Given the description of an element on the screen output the (x, y) to click on. 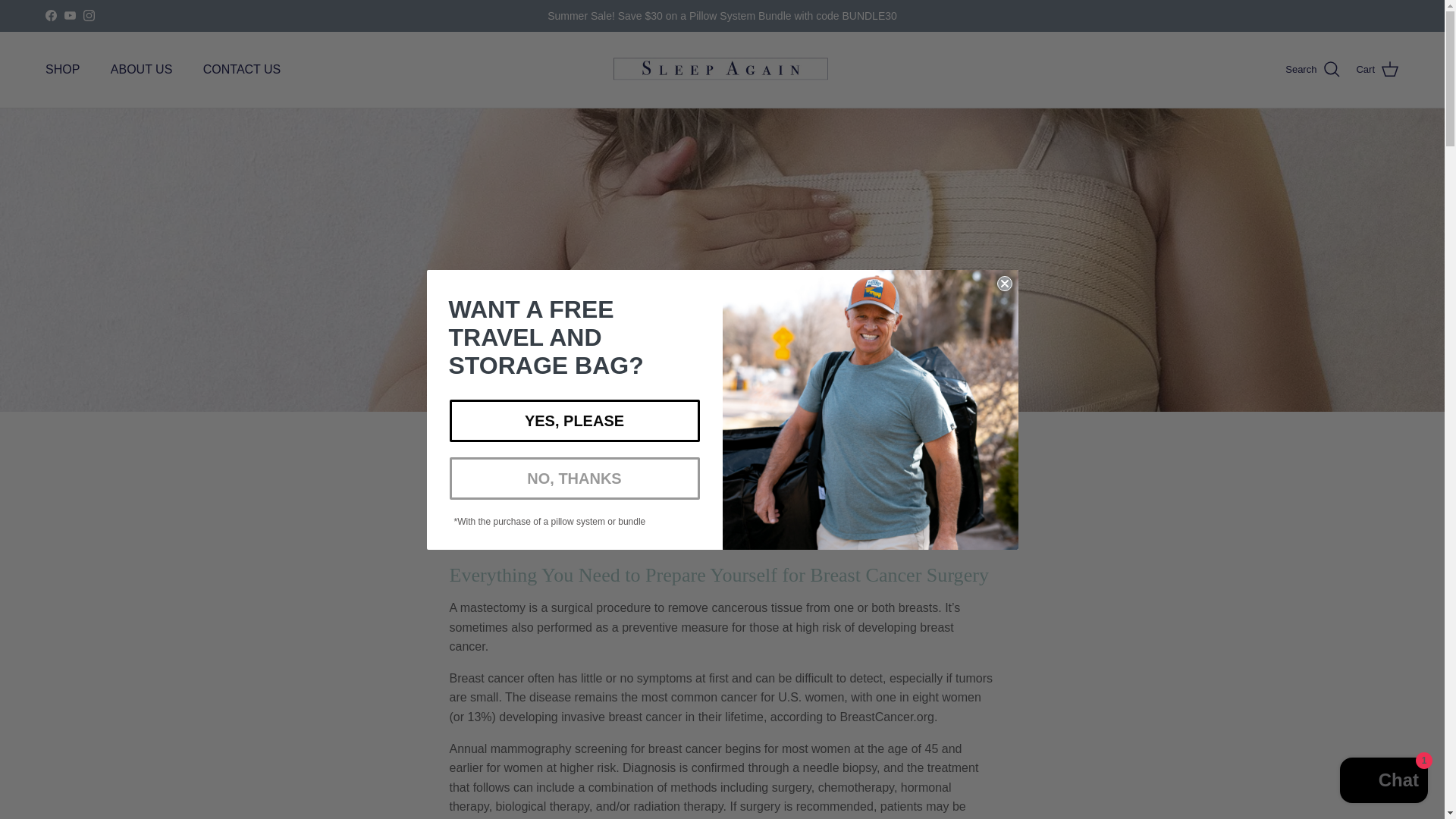
Facebook (50, 15)
ABOUT US (141, 69)
Sleep Again Pillows on Facebook (50, 15)
Shopify online store chat (1383, 781)
Sleep Again Pillows (721, 69)
Sleep Again Pillows on YouTube (69, 15)
CONTACT US (242, 69)
Close dialog 1 (1003, 283)
Instagram (88, 15)
Cart (1377, 69)
Sleep Again Pillows on Instagram (88, 15)
Search (1312, 69)
YouTube (69, 15)
SHOP (62, 69)
